Given the description of an element on the screen output the (x, y) to click on. 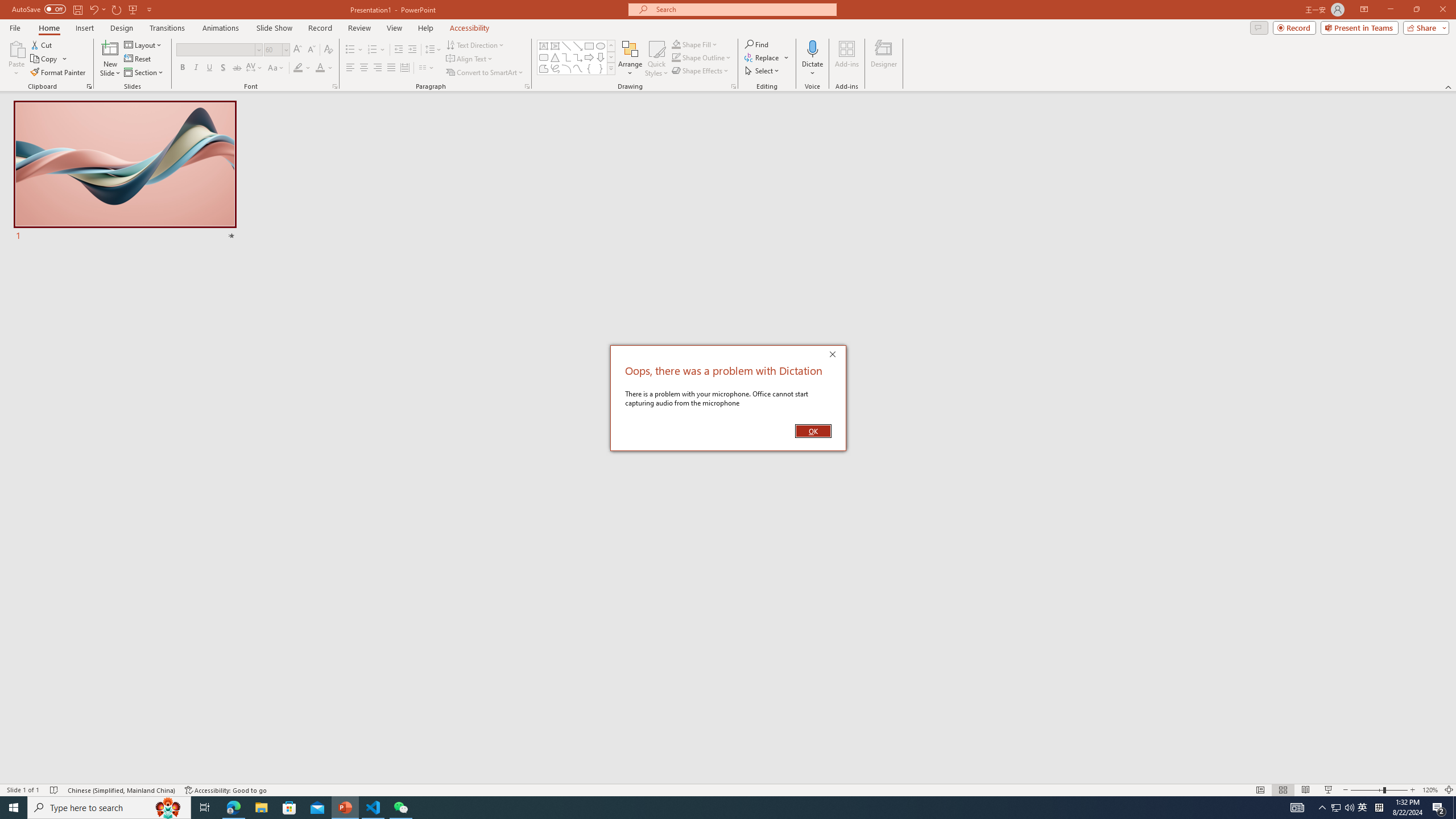
WeChat - 1 running window (400, 807)
Decrease Indent (398, 49)
Rectangle (589, 45)
Shape Outline Blue, Accent 1 (675, 56)
Center (363, 67)
AutomationID: 4105 (1297, 807)
Oval (600, 45)
Shadow (223, 67)
Shape Effects (700, 69)
